Given the description of an element on the screen output the (x, y) to click on. 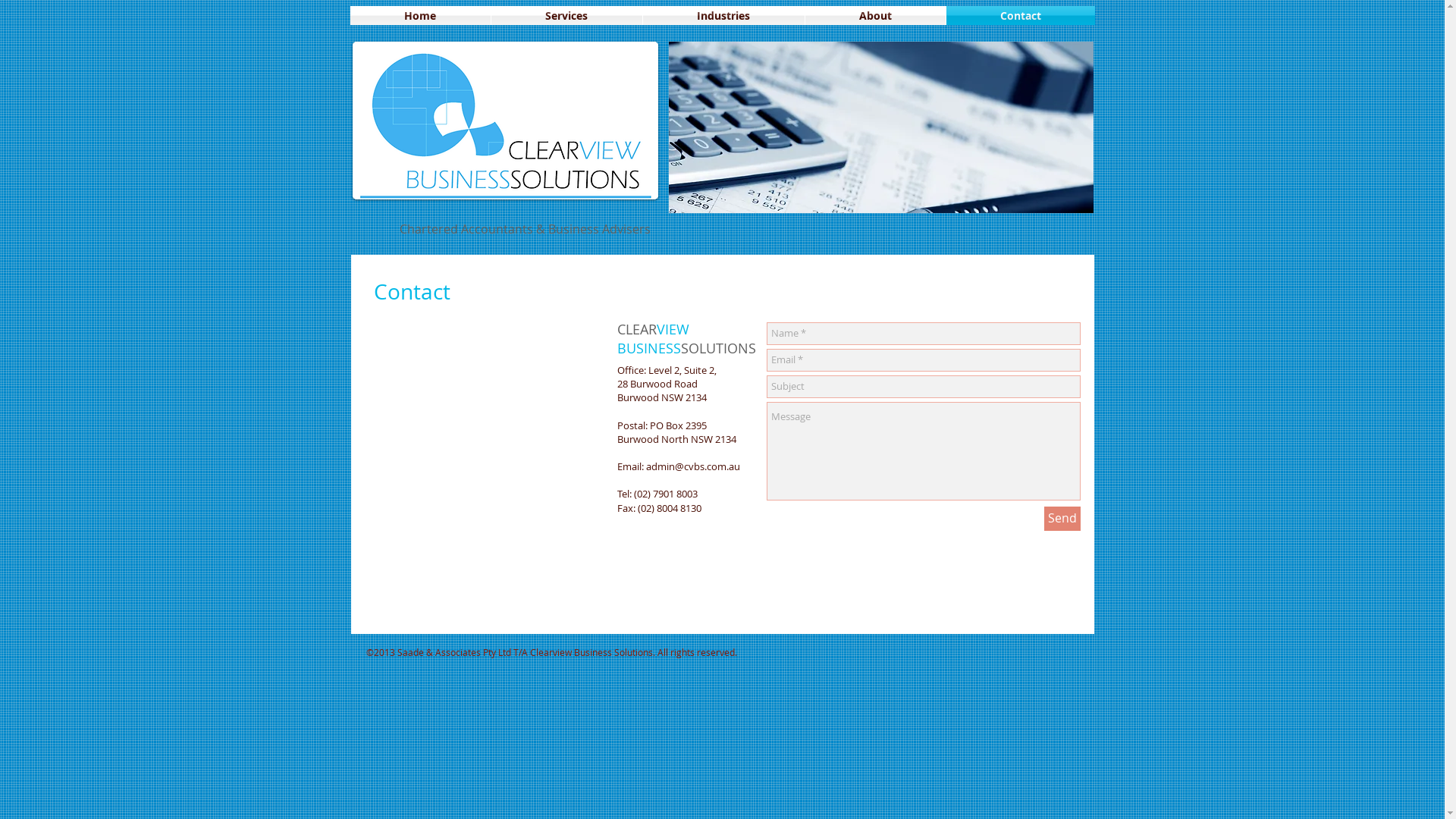
Industries Element type: text (723, 15)
Home Element type: text (420, 15)
Screen Shot 2014-07-24 at 8 06 26 PM.png 2016-1-8-18:48:22 Element type: hover (504, 120)
Services Element type: text (566, 15)
About Element type: text (875, 15)
admin@cvbs.com.au Element type: text (693, 466)
Send Element type: text (1061, 518)
Contact Element type: text (1020, 15)
